Given the description of an element on the screen output the (x, y) to click on. 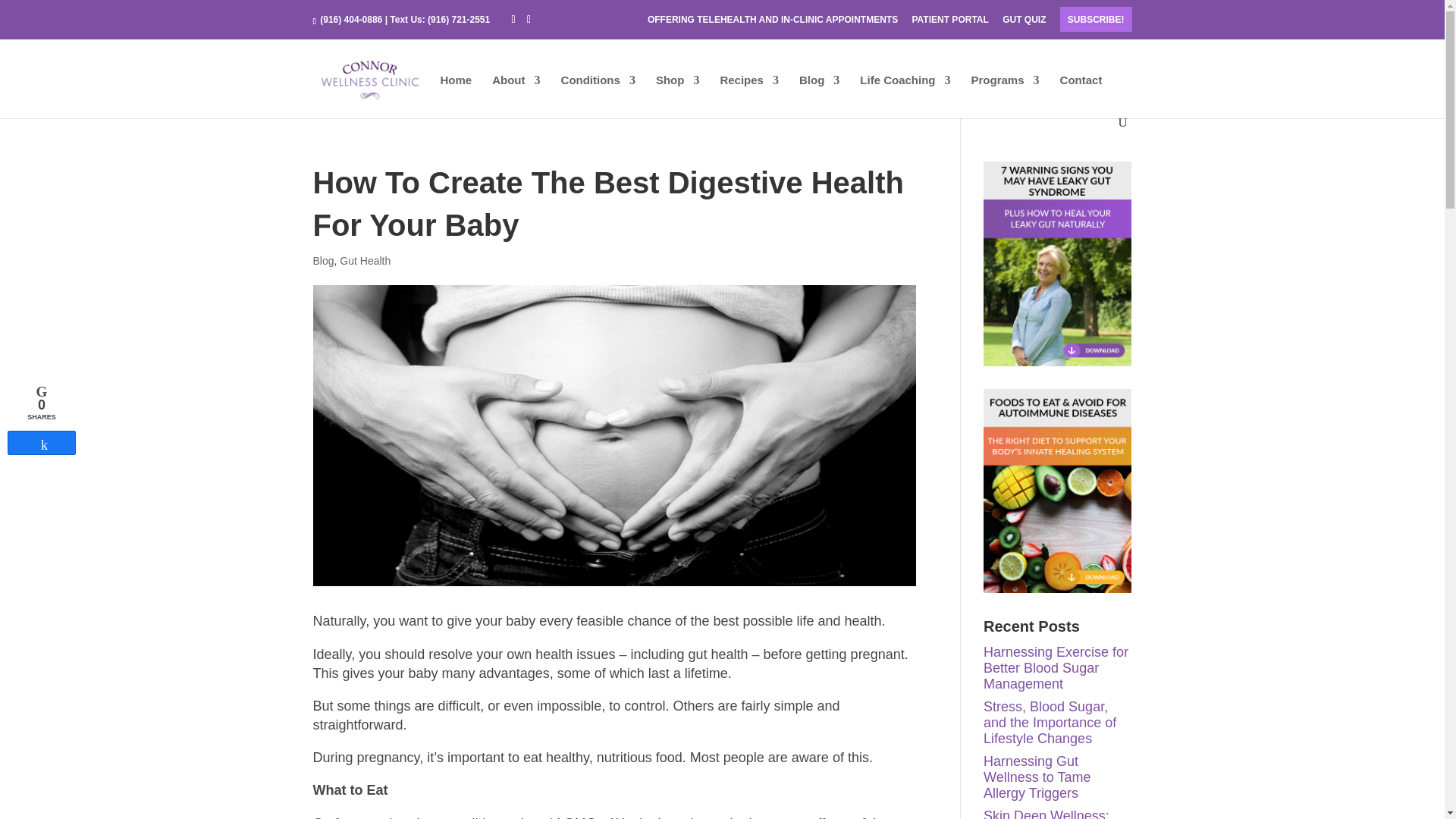
About (516, 95)
Conditions (597, 95)
GUT QUIZ (1024, 22)
Shop (678, 95)
PATIENT PORTAL (949, 22)
SUBSCRIBE! (1095, 18)
Recipes (748, 95)
OFFERING TELEHEALTH AND IN-CLINIC APPOINTMENTS (772, 22)
